Given the description of an element on the screen output the (x, y) to click on. 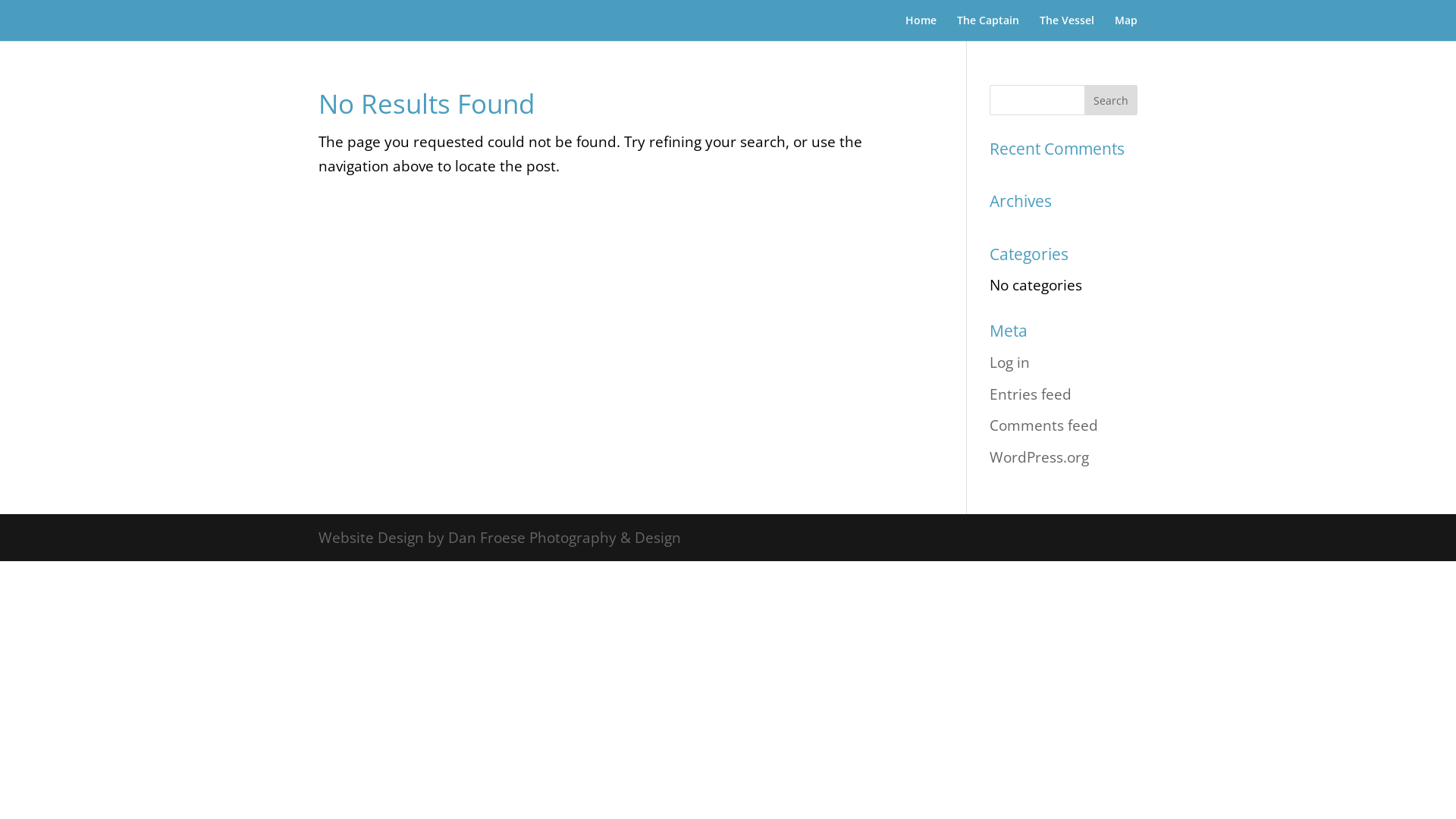
WordPress.org Element type: text (1038, 457)
Log in Element type: text (1009, 362)
Search Element type: text (1110, 99)
The Captain Element type: text (988, 27)
Map Element type: text (1125, 27)
The Vessel Element type: text (1066, 27)
Entries feed Element type: text (1030, 394)
Comments feed Element type: text (1043, 425)
Home Element type: text (920, 27)
